Given the description of an element on the screen output the (x, y) to click on. 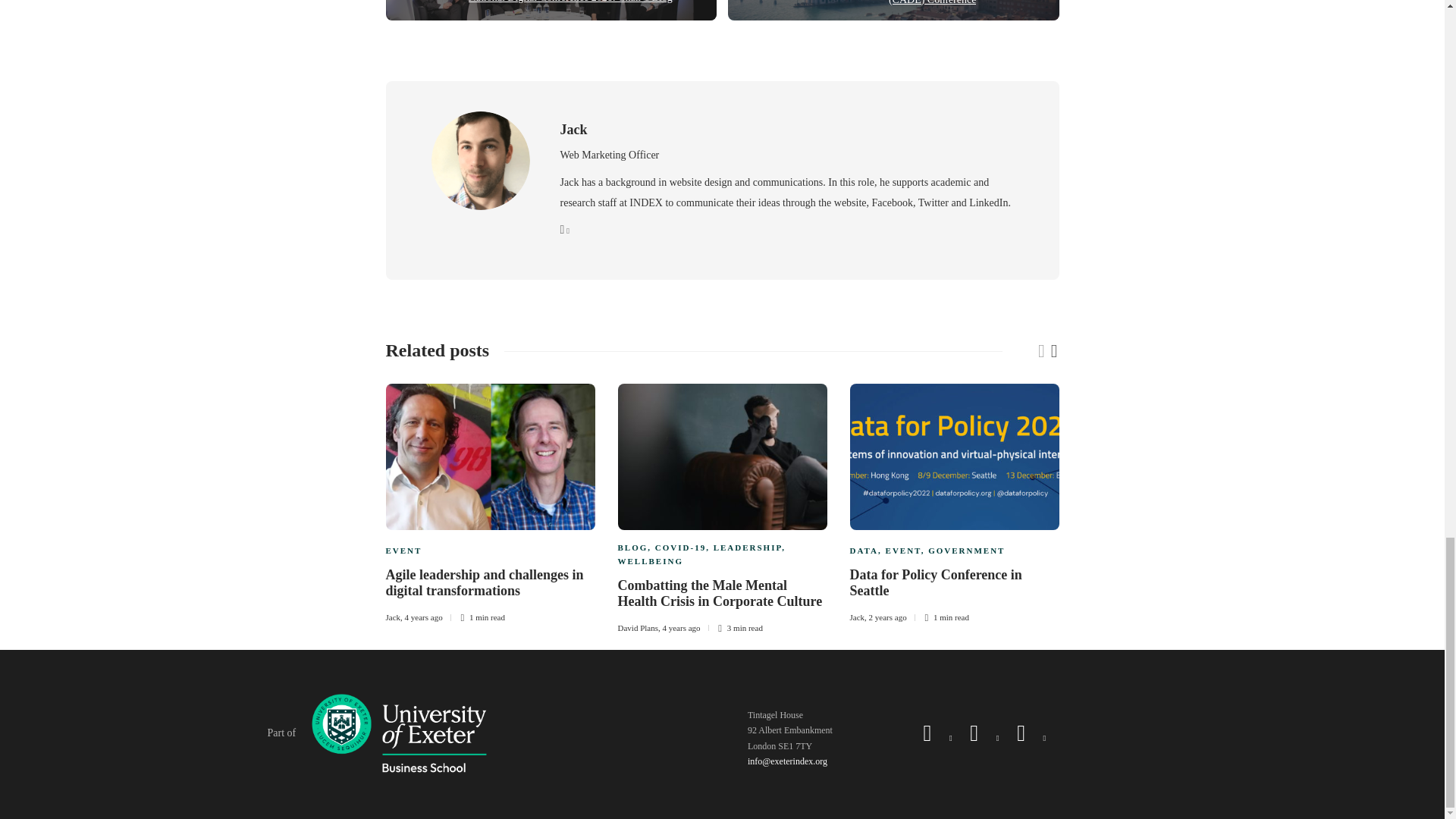
Email us (787, 760)
